Given the description of an element on the screen output the (x, y) to click on. 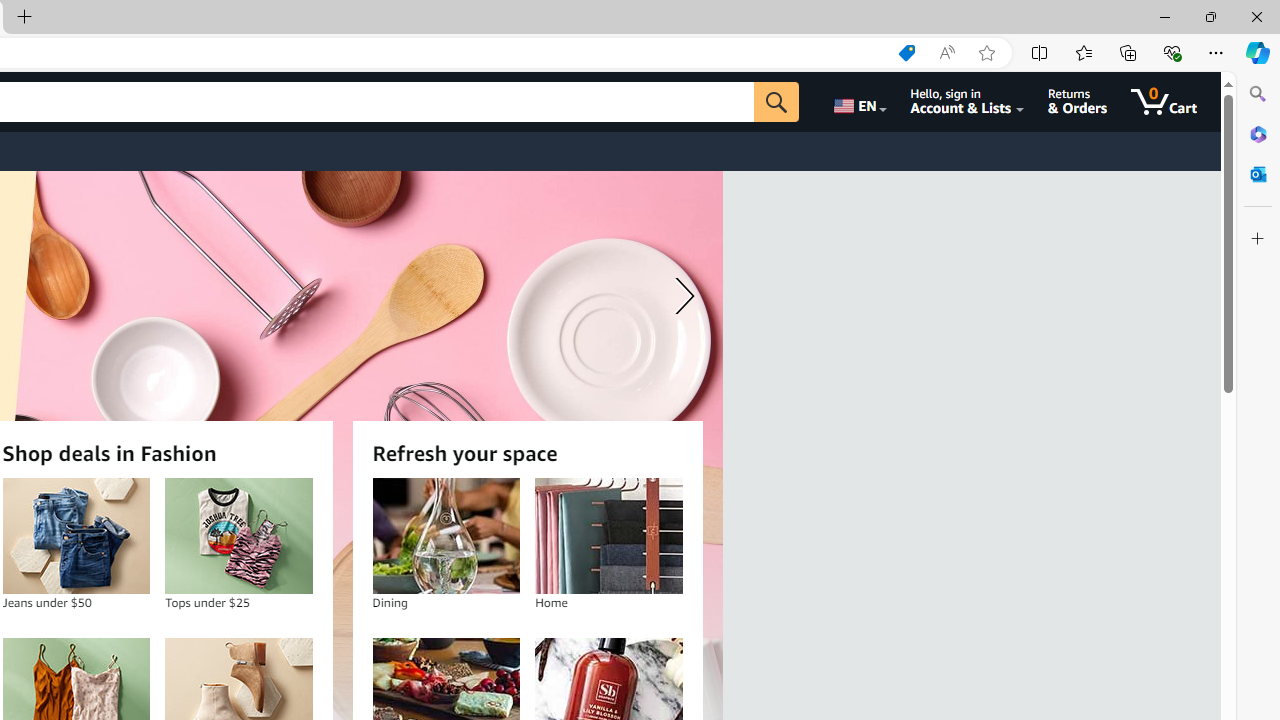
Home (608, 536)
Search (1258, 94)
Home (609, 536)
Tops under $25 (238, 536)
Next slide (680, 296)
Go (776, 101)
Microsoft 365 (1258, 133)
Choose a language for shopping. (858, 101)
Read aloud this page (Ctrl+Shift+U) (946, 53)
Dining (445, 536)
Customize (1258, 239)
